Given the description of an element on the screen output the (x, y) to click on. 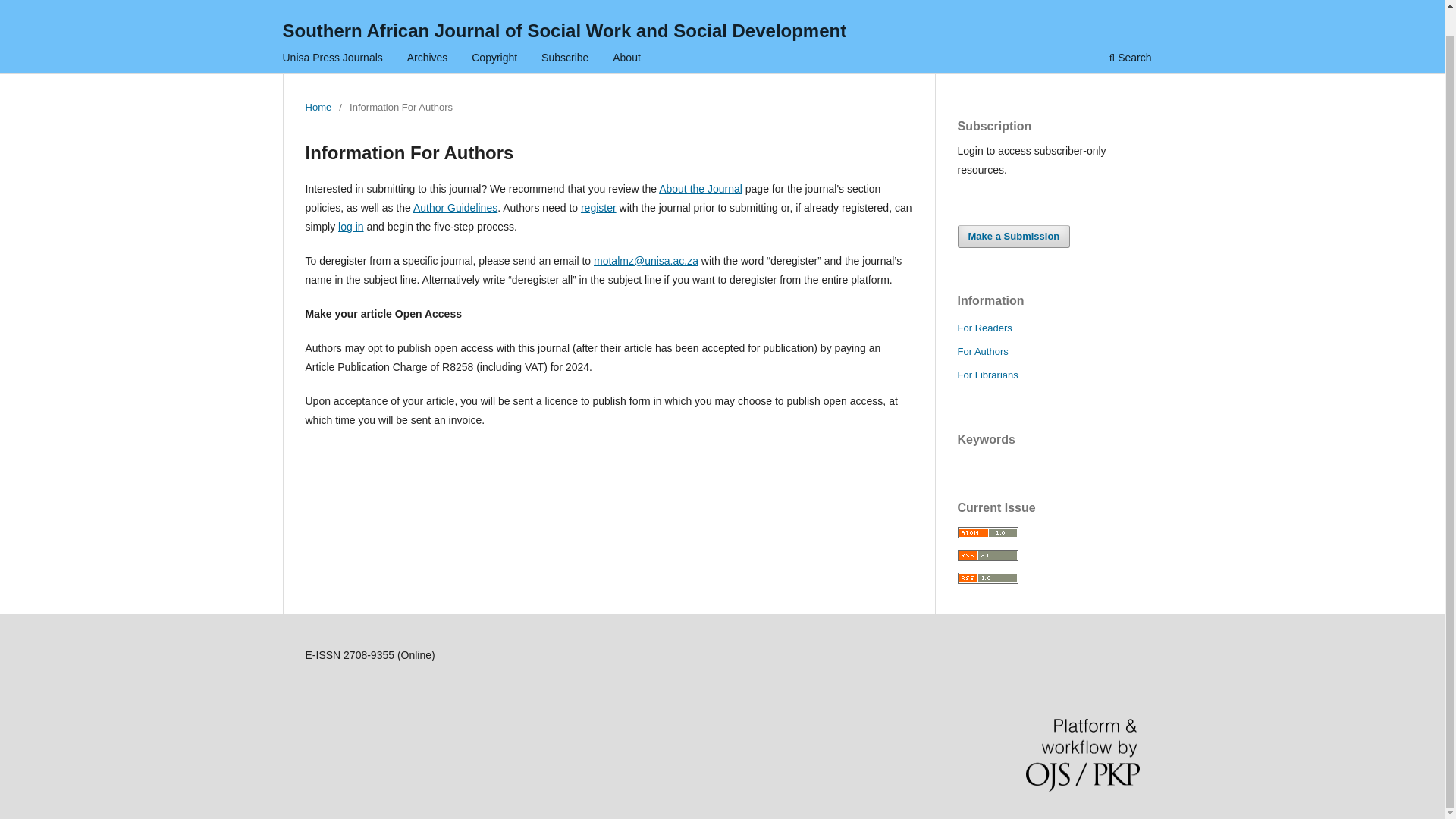
Subscribe (564, 58)
For Readers (983, 327)
Home (317, 107)
Copyright (493, 58)
About (626, 58)
Author Guidelines (455, 207)
For Authors (981, 351)
For Librarians (986, 374)
Make a Submission (1013, 236)
Unisa Press Journals (333, 58)
Search (1129, 58)
register (597, 207)
log in (349, 226)
About the Journal (700, 188)
